Given the description of an element on the screen output the (x, y) to click on. 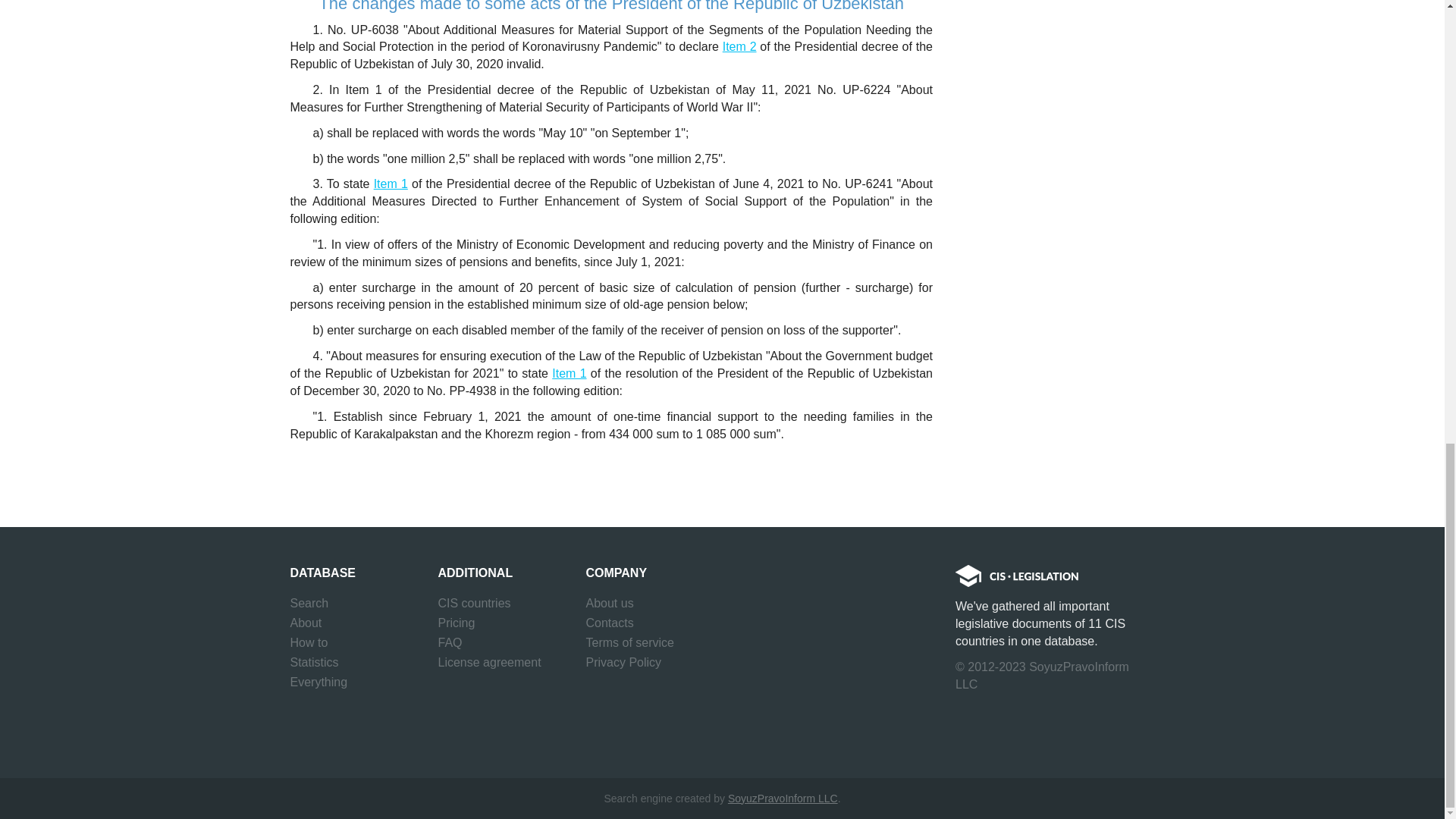
FAQ (450, 642)
Item 1 (390, 183)
About (305, 623)
Everything (318, 682)
License agreement (489, 662)
Search (309, 603)
Statistics (313, 662)
How to (308, 642)
CIS countries (474, 603)
About us (609, 603)
Item 1 (568, 373)
Pricing (457, 623)
Item 2 (739, 46)
